Given the description of an element on the screen output the (x, y) to click on. 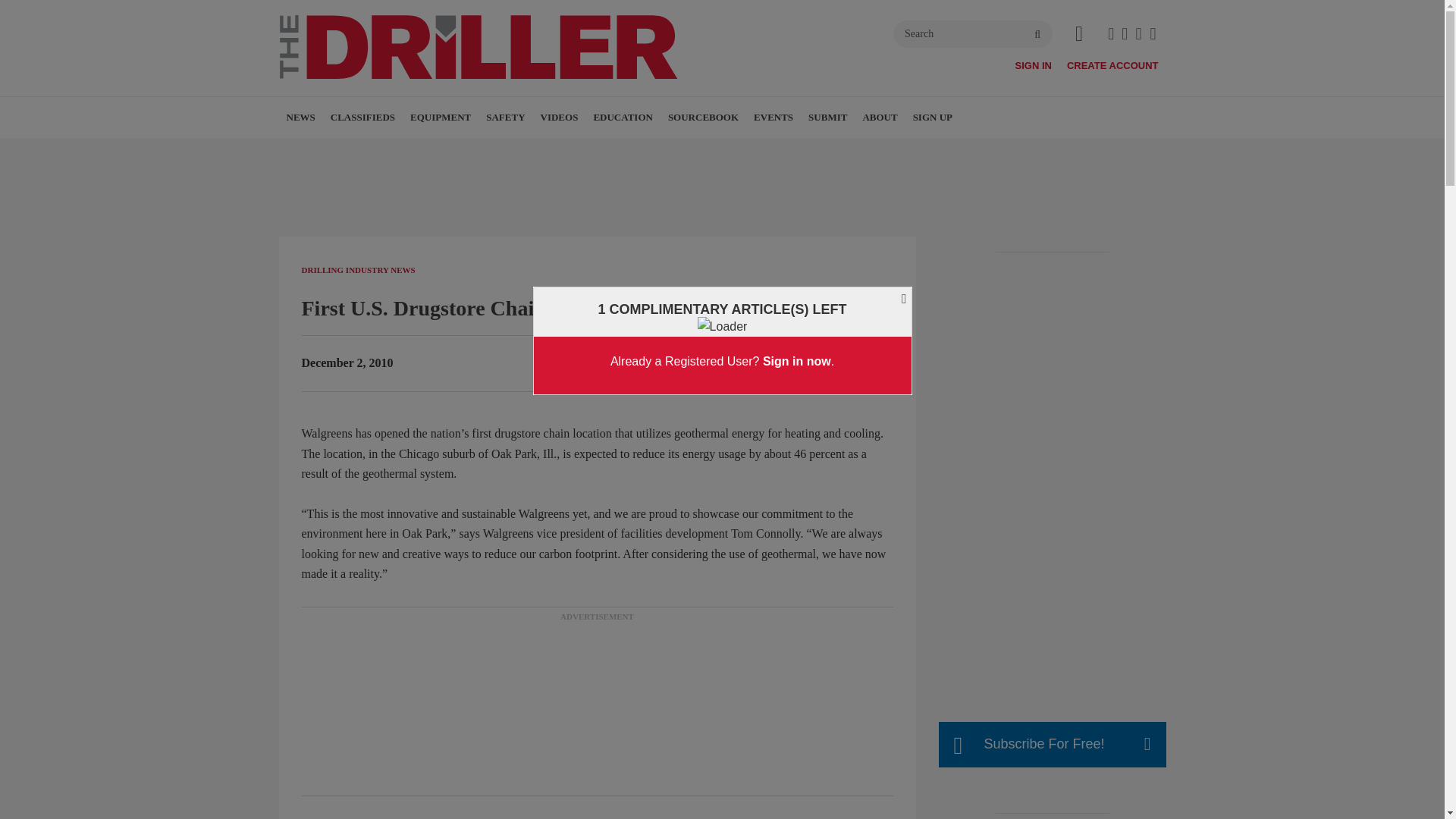
EMERGING DRILLERS (646, 150)
CONSUMABLES (504, 150)
ALL INDUSTRY NEWS (400, 150)
WATER (373, 150)
EVENTS (772, 117)
ASK BROCK (640, 150)
Search (972, 33)
CLASSIFIEDS (363, 117)
SAFETY (505, 117)
MINING (397, 150)
